Given the description of an element on the screen output the (x, y) to click on. 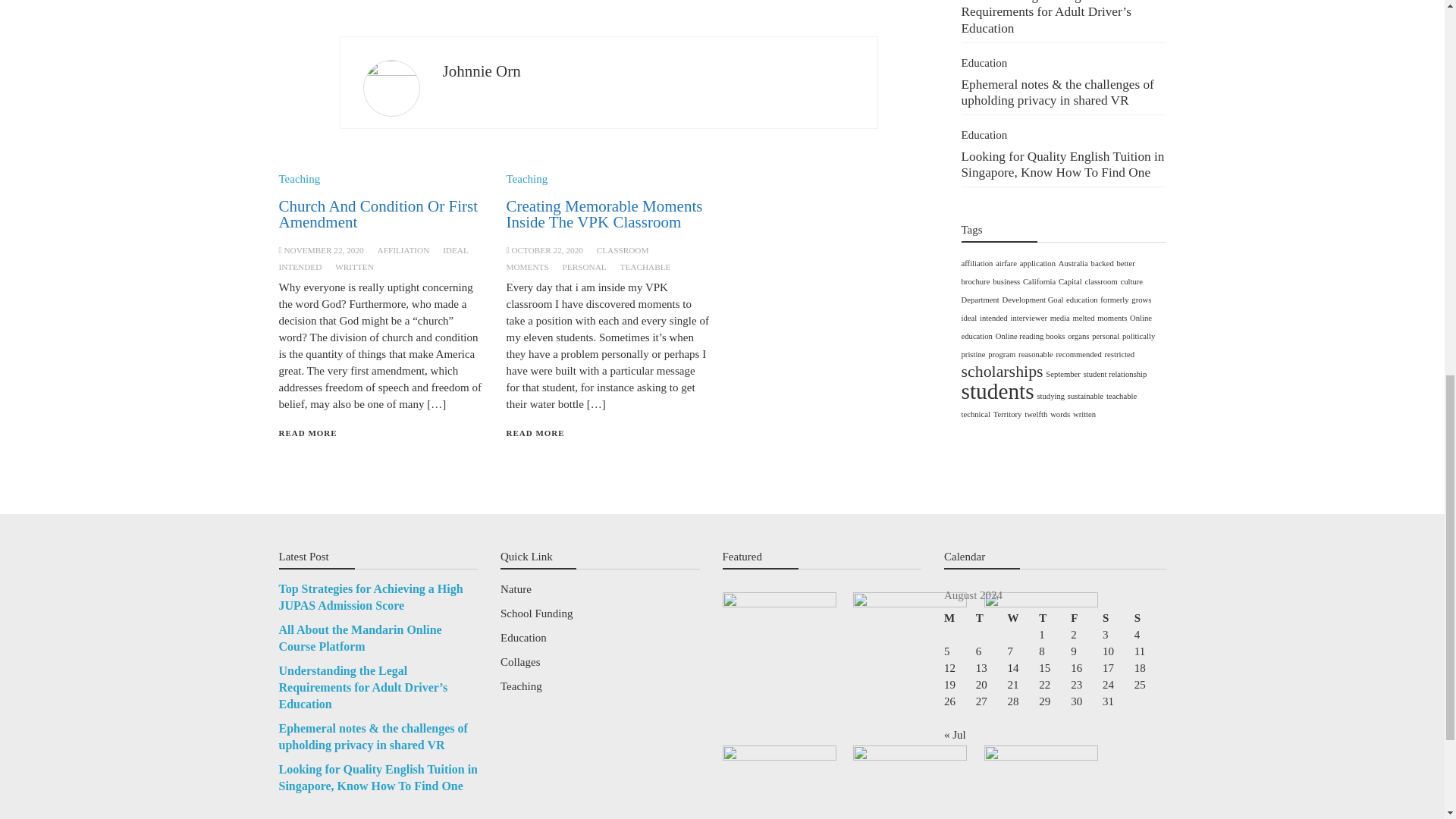
IDEAL (455, 249)
READ MORE (308, 432)
MOMENTS (526, 266)
Tuesday (991, 617)
Church And Condition Or First Amendment (379, 213)
Johnnie Orn (481, 71)
Friday (1086, 617)
OCTOBER 22, 2020 (547, 249)
NOVEMBER 22, 2020 (322, 249)
Thursday (1054, 617)
